Given the description of an element on the screen output the (x, y) to click on. 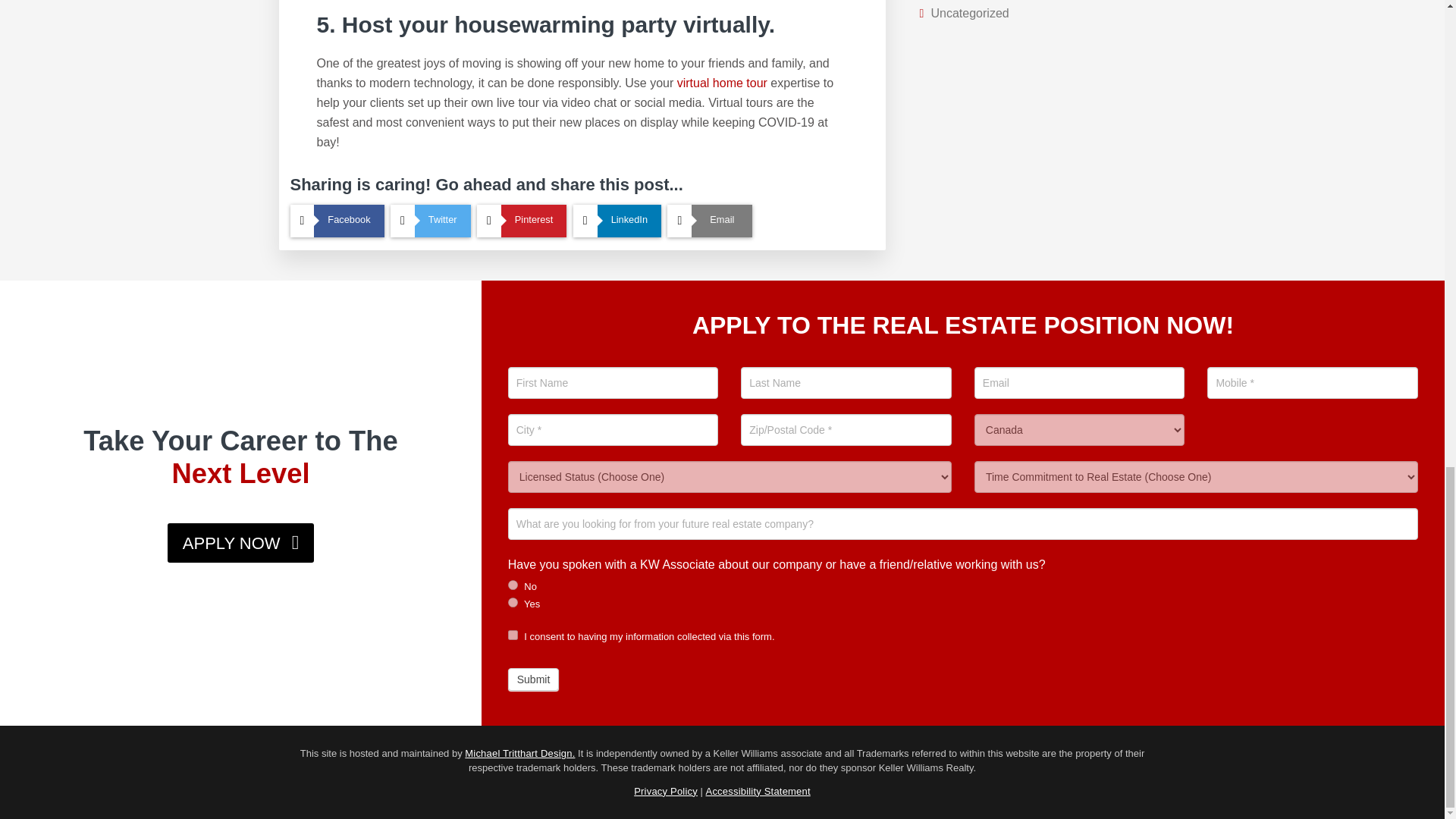
No (513, 584)
LinkedIn (617, 220)
Twitter (430, 220)
Facebook (336, 220)
I consent to having my information collected via this form. (513, 634)
Email (709, 220)
Yes (513, 602)
Pinterest (521, 220)
virtual home tour (722, 82)
